Given the description of an element on the screen output the (x, y) to click on. 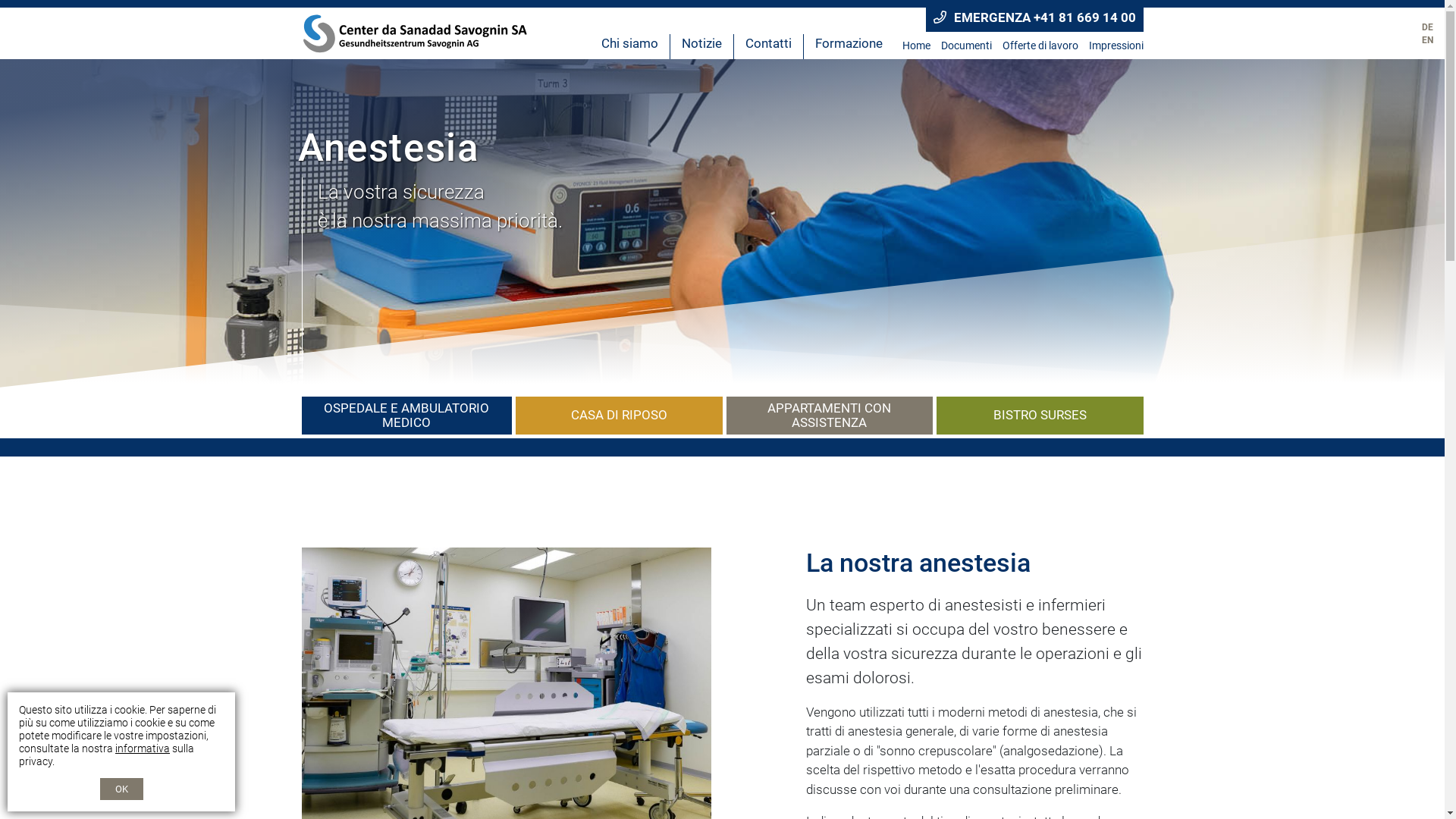
Formazione Element type: text (847, 46)
OK Element type: text (121, 789)
Documenti Element type: text (966, 45)
APPARTAMENTI CON ASSISTENZA Element type: text (829, 415)
Notizie Element type: text (700, 46)
informativa Element type: text (142, 747)
DE Element type: text (1427, 26)
Contatti Element type: text (767, 46)
Home Element type: text (915, 45)
BISTRO SURSES Element type: text (1039, 414)
EN Element type: text (1427, 39)
Offerte di lavoro Element type: text (1039, 45)
Impressioni Element type: text (1112, 45)
OSPEDALE E AMBULATORIO MEDICO Element type: text (406, 415)
Chi siamo Element type: text (629, 46)
EMERGENZA +41 81 669 14 00 Element type: text (1044, 17)
CASA DI RIPOSO Element type: text (618, 414)
